Given the description of an element on the screen output the (x, y) to click on. 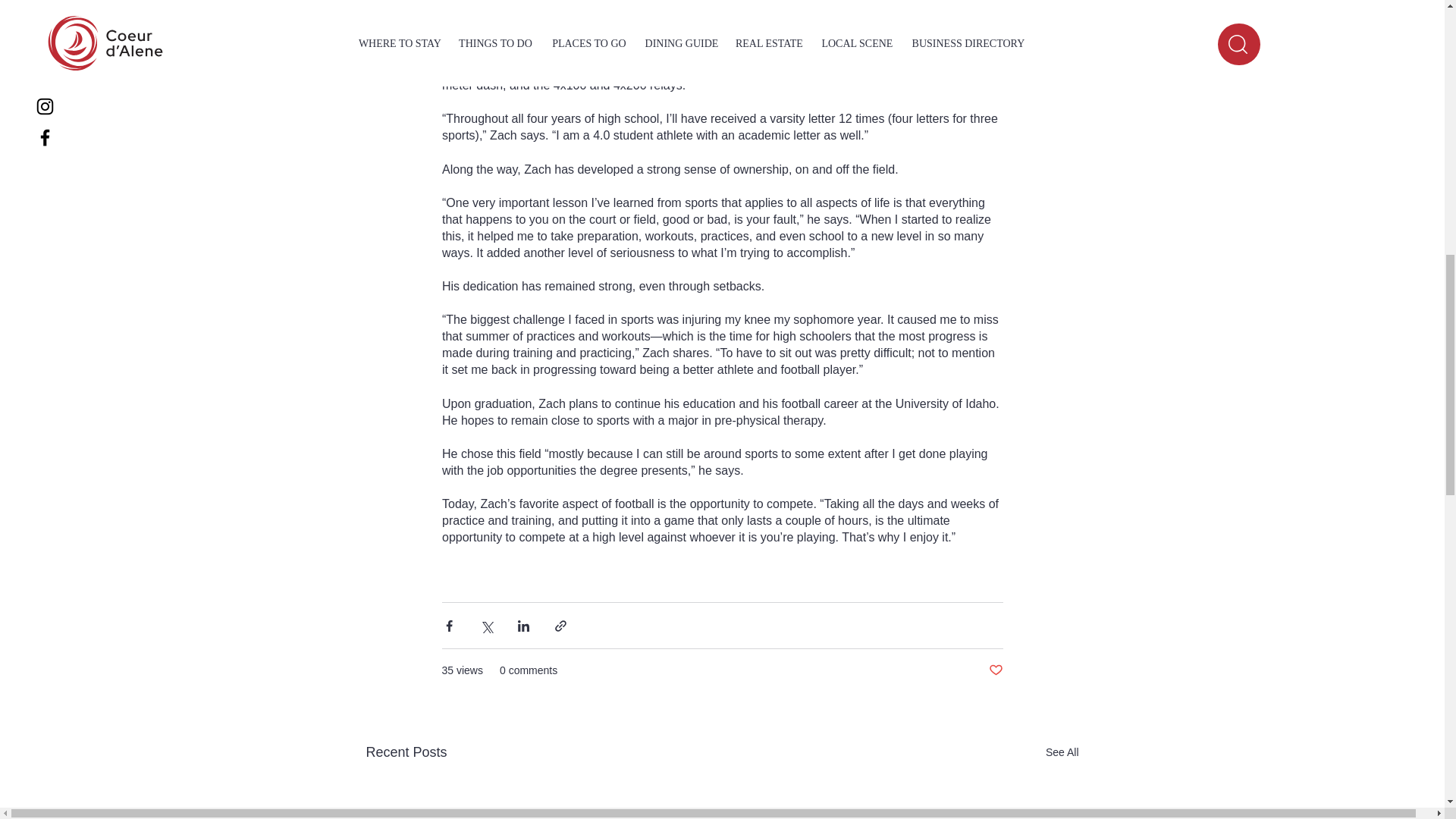
Post not marked as liked (995, 670)
See All (1061, 752)
